Given the description of an element on the screen output the (x, y) to click on. 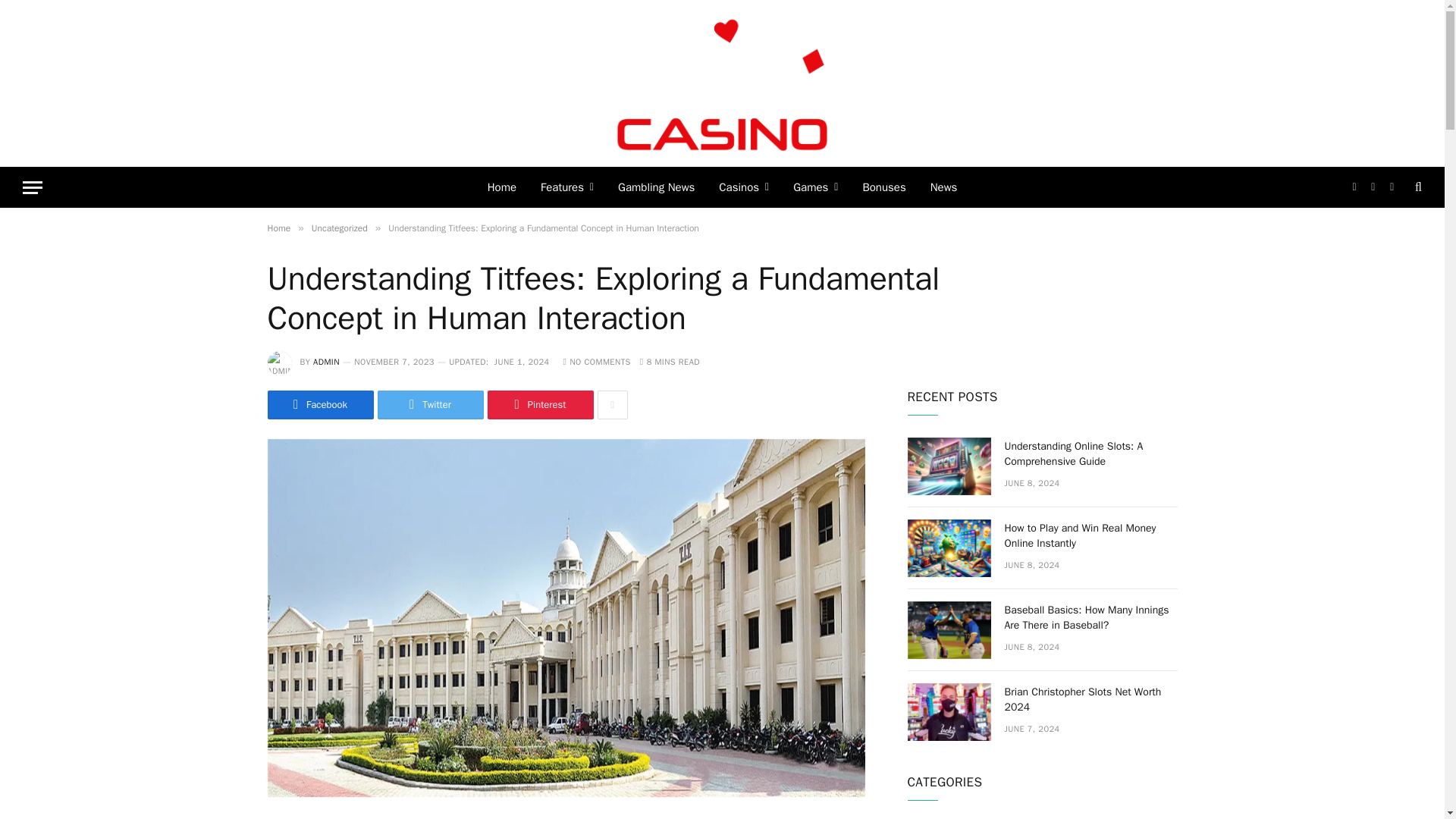
Gambling News (655, 187)
Share on Pinterest (539, 404)
Features (566, 187)
Most Famous Casino  (722, 83)
Share on Facebook (319, 404)
Home (502, 187)
Posts by admin (326, 361)
